Given the description of an element on the screen output the (x, y) to click on. 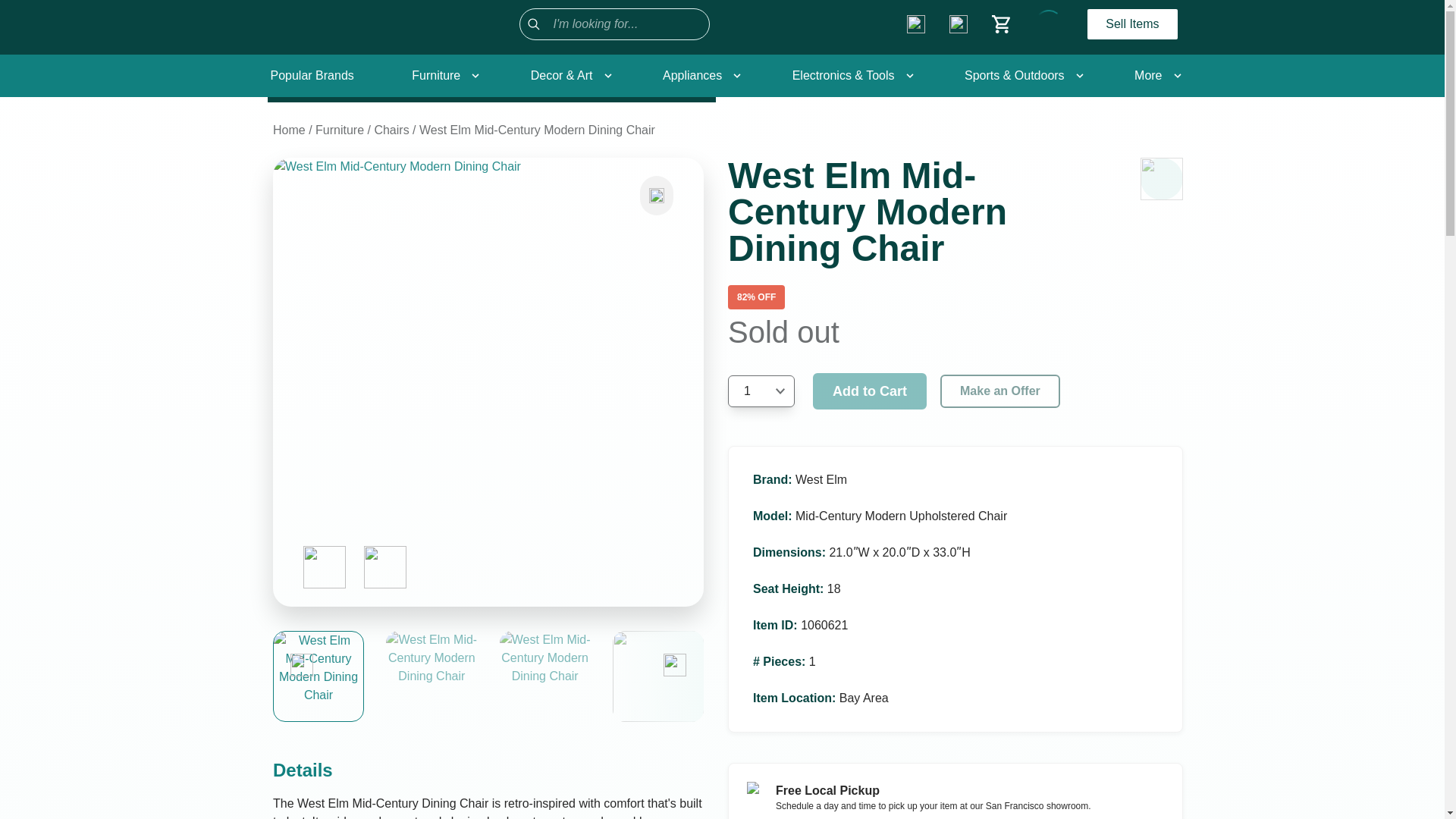
Popular Brands (311, 75)
Dressers (496, 308)
Sell Items (1131, 24)
Bookshelves (505, 308)
Furniture (442, 75)
